Given the description of an element on the screen output the (x, y) to click on. 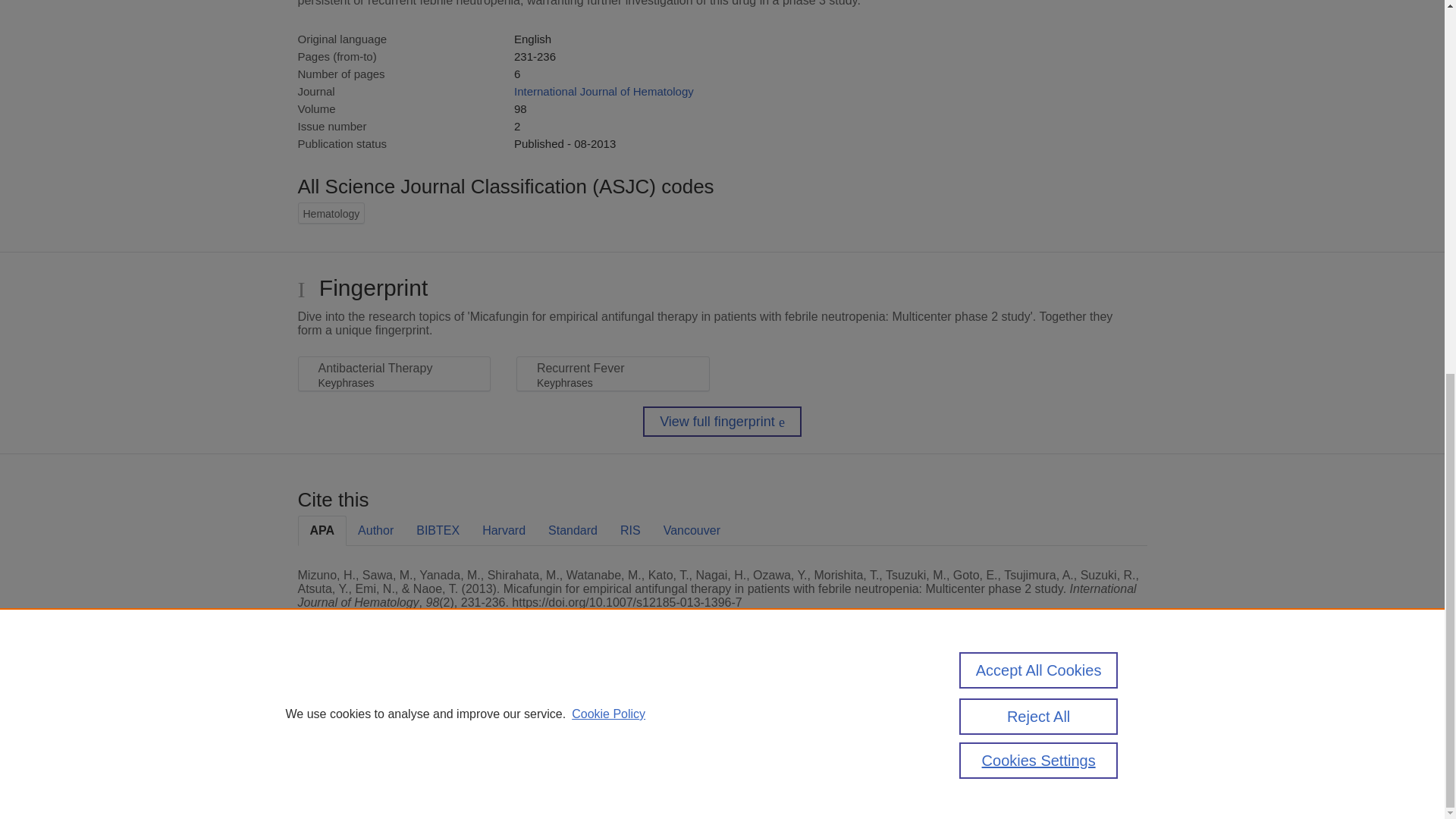
Cookies Settings (1038, 76)
Scopus (394, 708)
Reject All (1038, 33)
International Journal of Hematology (603, 91)
use of cookies (796, 760)
Cookies Settings (334, 781)
Cookie Policy (608, 30)
Report vulnerability (1020, 745)
About web accessibility (1020, 713)
Accept All Cookies (1038, 2)
